Given the description of an element on the screen output the (x, y) to click on. 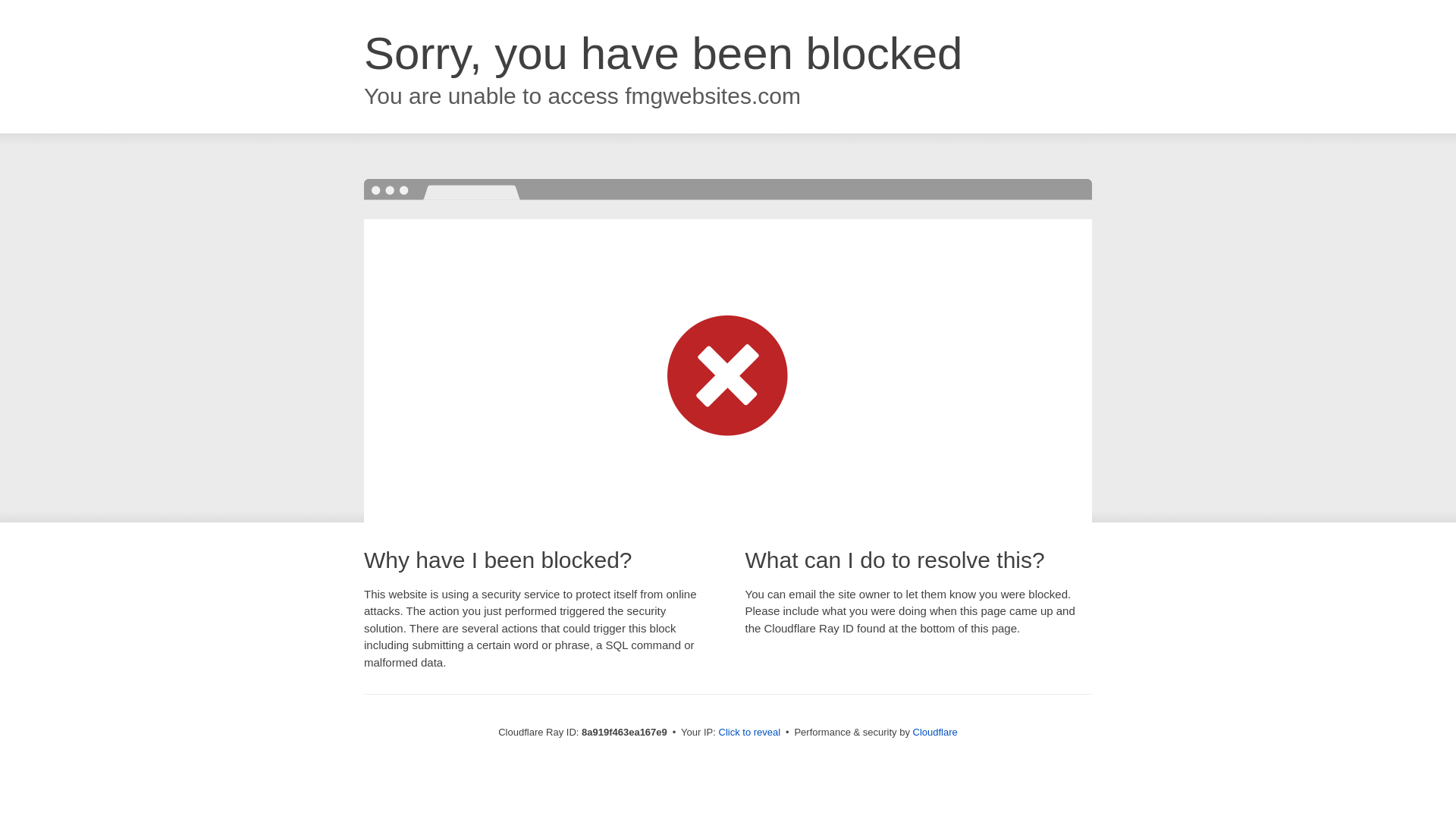
Cloudflare (935, 731)
Click to reveal (749, 732)
